Given the description of an element on the screen output the (x, y) to click on. 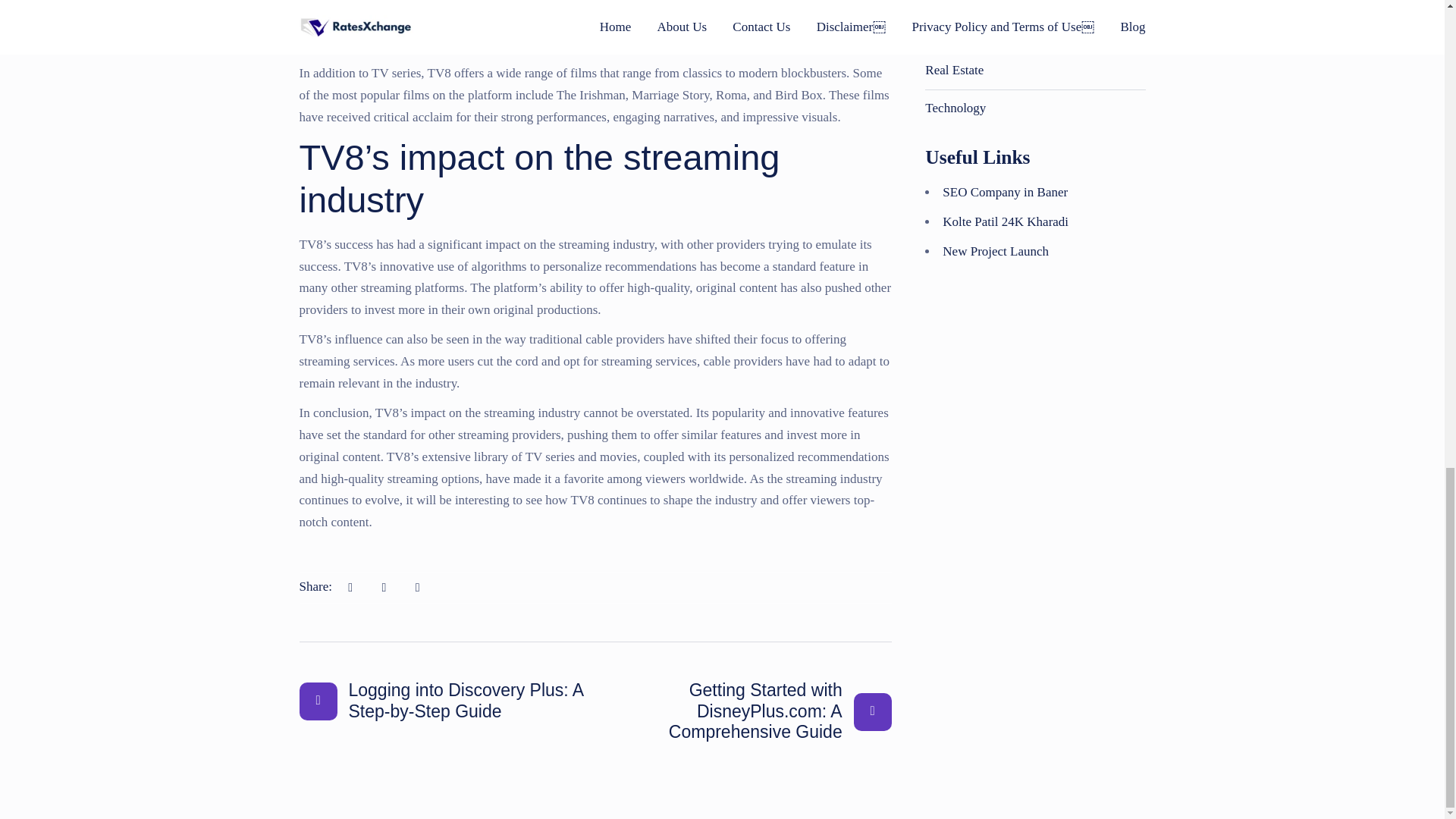
Kolte Patil 24K Kharadi (1005, 221)
Technology (954, 107)
SEO Company in Baner (1004, 192)
Facebook (383, 587)
Real Estate (954, 69)
Marketing (951, 1)
Twitter (349, 587)
News (939, 32)
Logging into Discovery Plus: A Step-by-Step Guide (443, 700)
Pinterest (417, 587)
Getting Started with DisneyPlus.com: A Comprehensive Guide (746, 711)
